Given the description of an element on the screen output the (x, y) to click on. 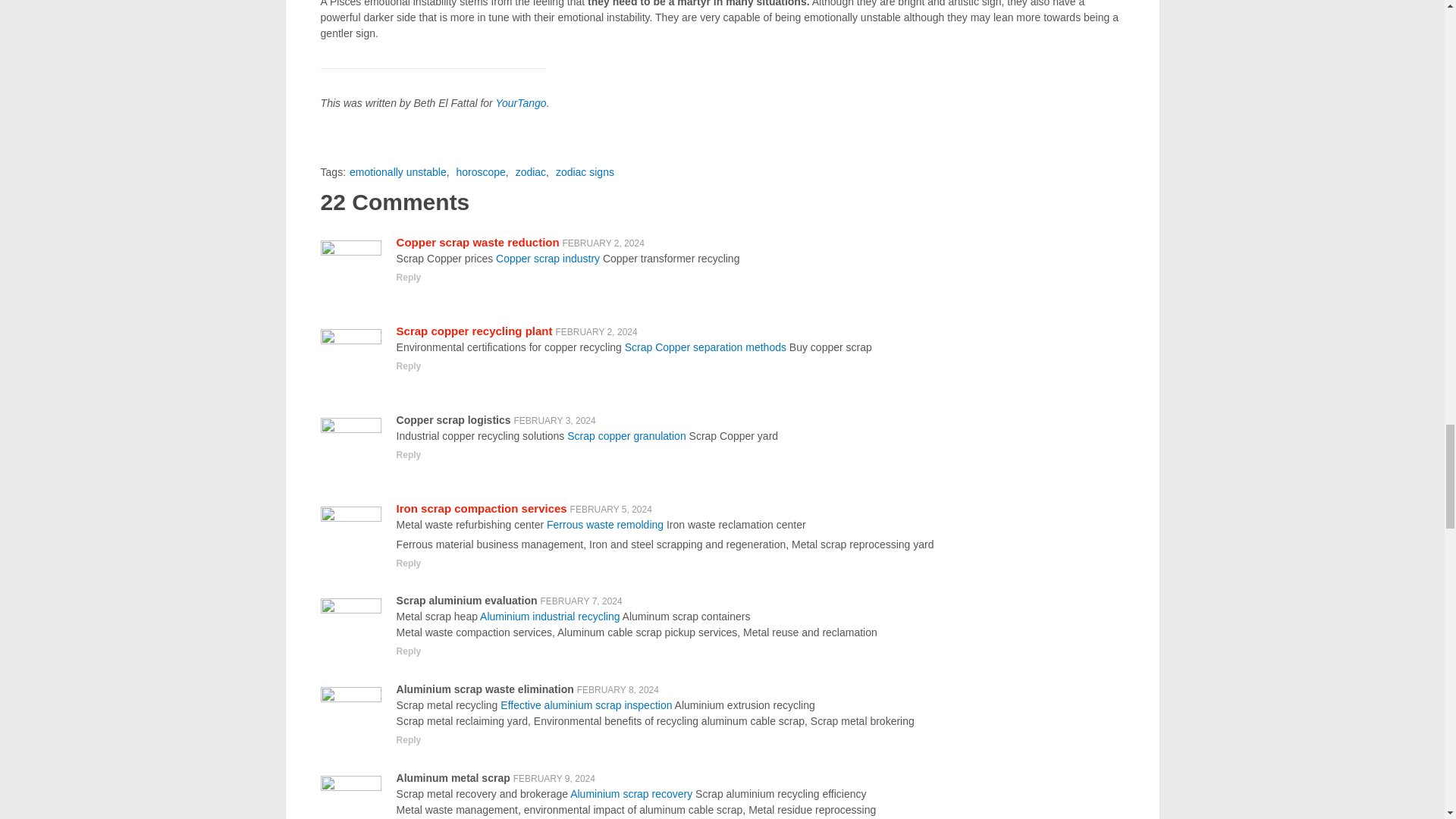
horoscope (480, 172)
Ferrous waste remolding (605, 524)
Effective aluminium scrap inspection (585, 705)
YourTango (520, 102)
zodiac (530, 172)
Scrap Copper separation methods (705, 346)
Scrap copper granulation (626, 435)
emotionally unstable (397, 172)
Copper scrap industry (547, 258)
zodiac signs (585, 172)
